Given the description of an element on the screen output the (x, y) to click on. 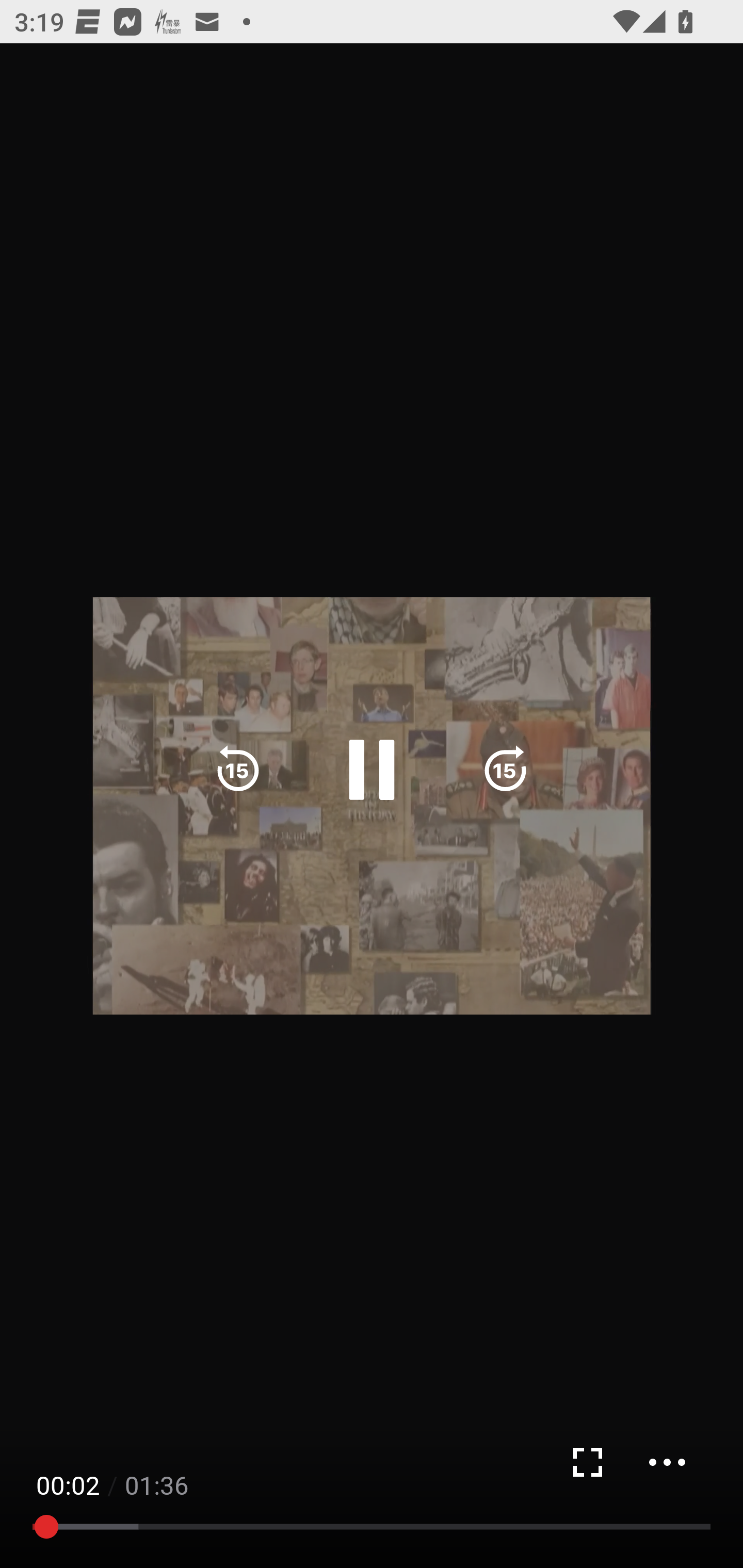
Rewind 15 seconds (238, 769)
Pause (371, 769)
fast forward 15 seconds (504, 769)
Fullscreen (587, 1462)
menu (666, 1462)
